Given the description of an element on the screen output the (x, y) to click on. 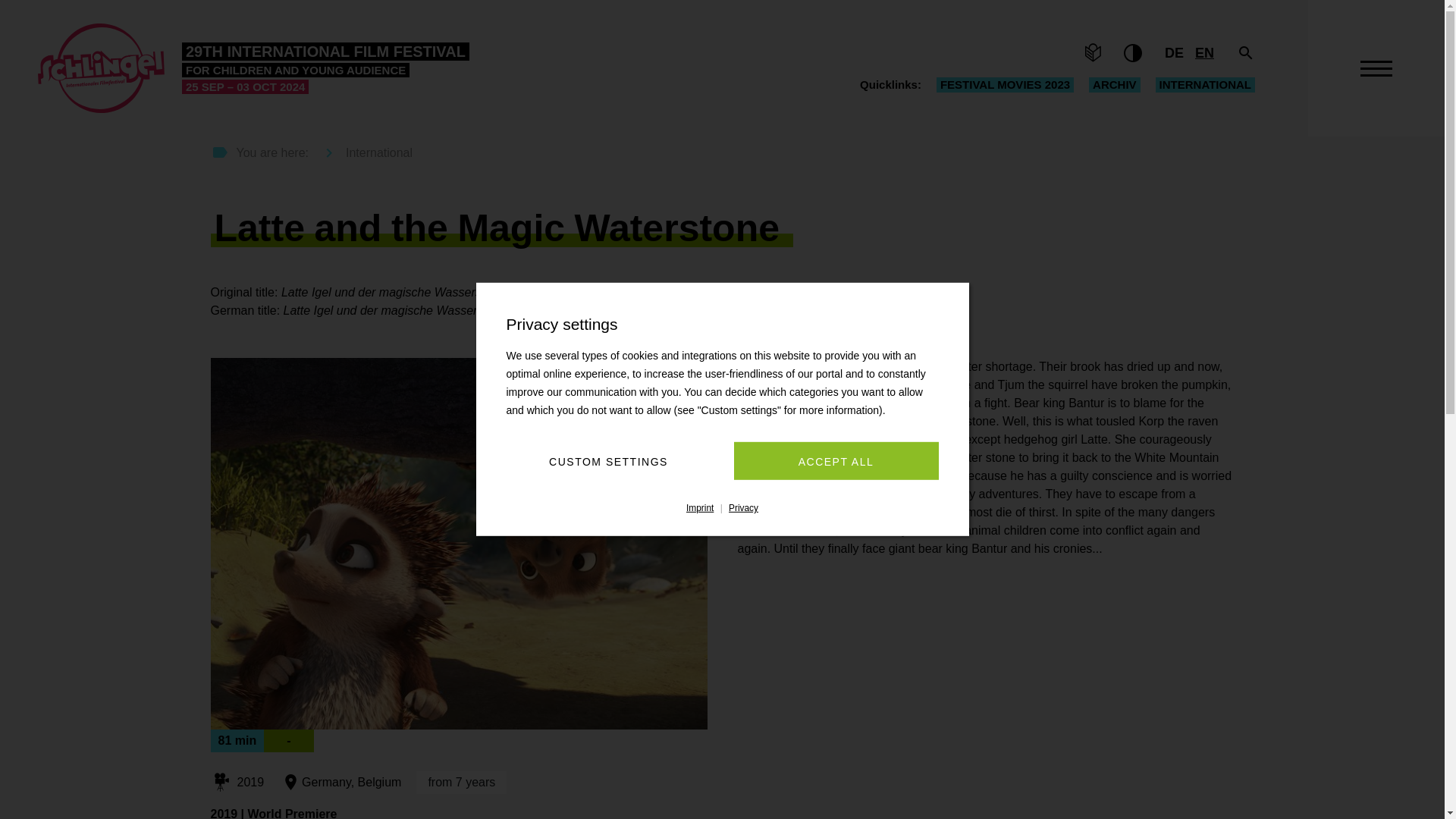
FESTIVAL MOVIES 2023 (1005, 84)
INTERNATIONAL (1205, 84)
International (1205, 84)
Open search (1245, 53)
EN (1204, 53)
Archiv (1114, 84)
deutsche Version (1173, 53)
High contrast version (1132, 53)
Festival Movies 2023 (1005, 84)
ARCHIV (1114, 84)
DE (1173, 53)
Currently selected: english version (1204, 53)
Home SCHLINGEL Filmfestival (252, 68)
International (362, 153)
